Given the description of an element on the screen output the (x, y) to click on. 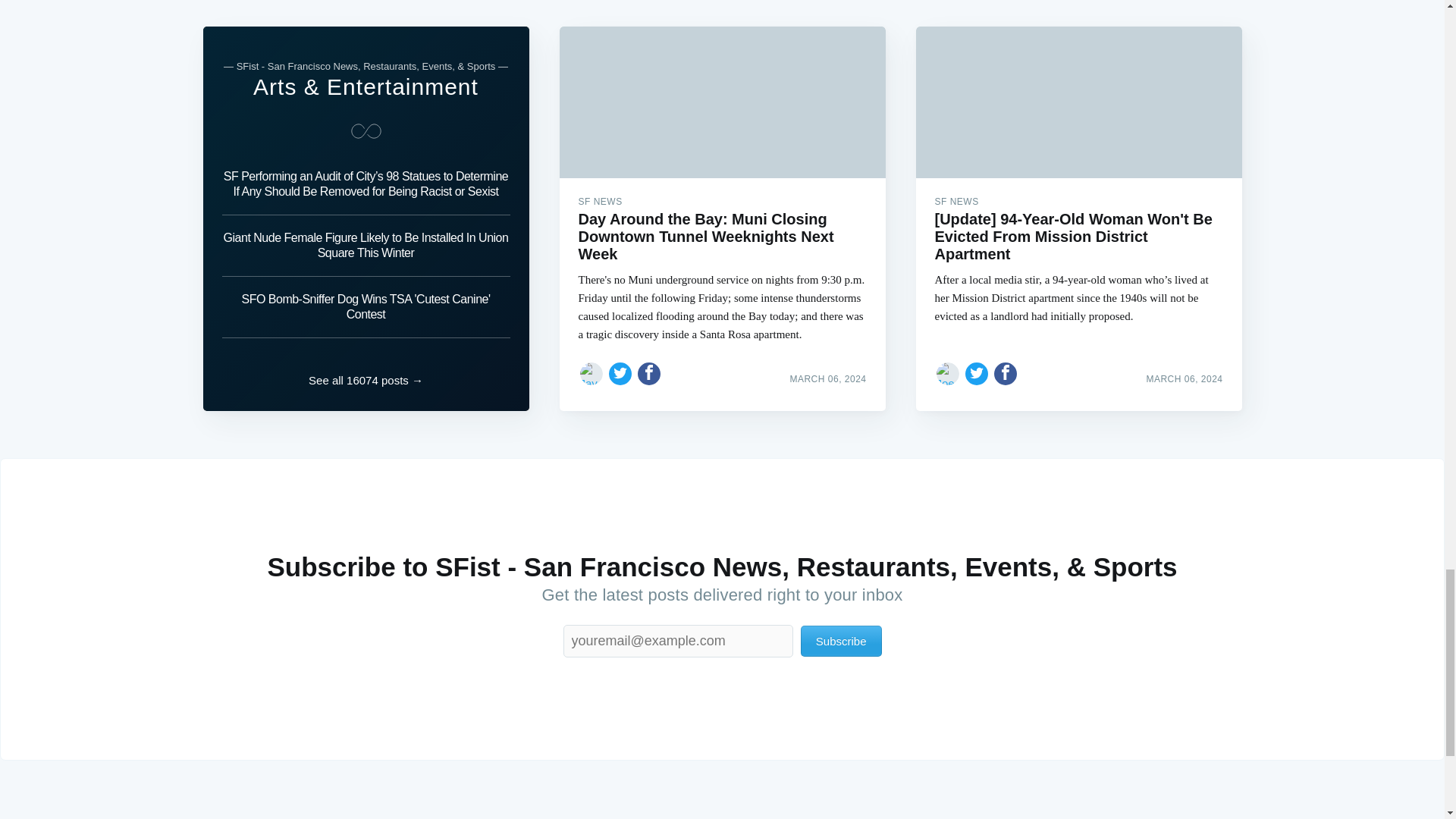
Share on Facebook (649, 373)
Share on Twitter (620, 373)
Share on Facebook (1004, 373)
Share on Twitter (976, 373)
SFO Bomb-Sniffer Dog Wins TSA 'Cutest Canine' Contest (365, 307)
